Given the description of an element on the screen output the (x, y) to click on. 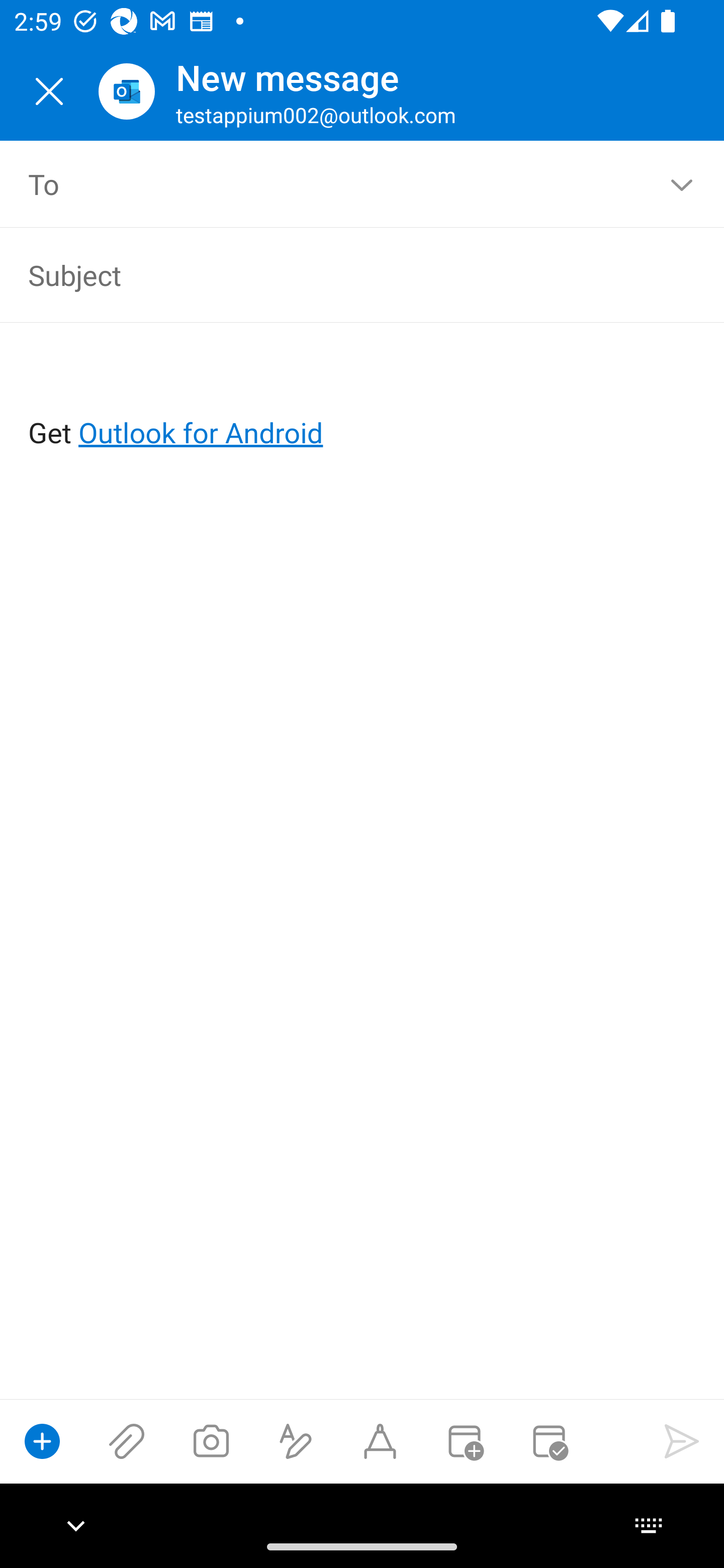
Close (49, 91)
Subject (333, 274)
Show compose options (42, 1440)
Attach files (126, 1440)
Take a photo (210, 1440)
Show formatting options (295, 1440)
Start Ink compose (380, 1440)
Convert to event (464, 1440)
Send availability (548, 1440)
Send (681, 1440)
